Given the description of an element on the screen output the (x, y) to click on. 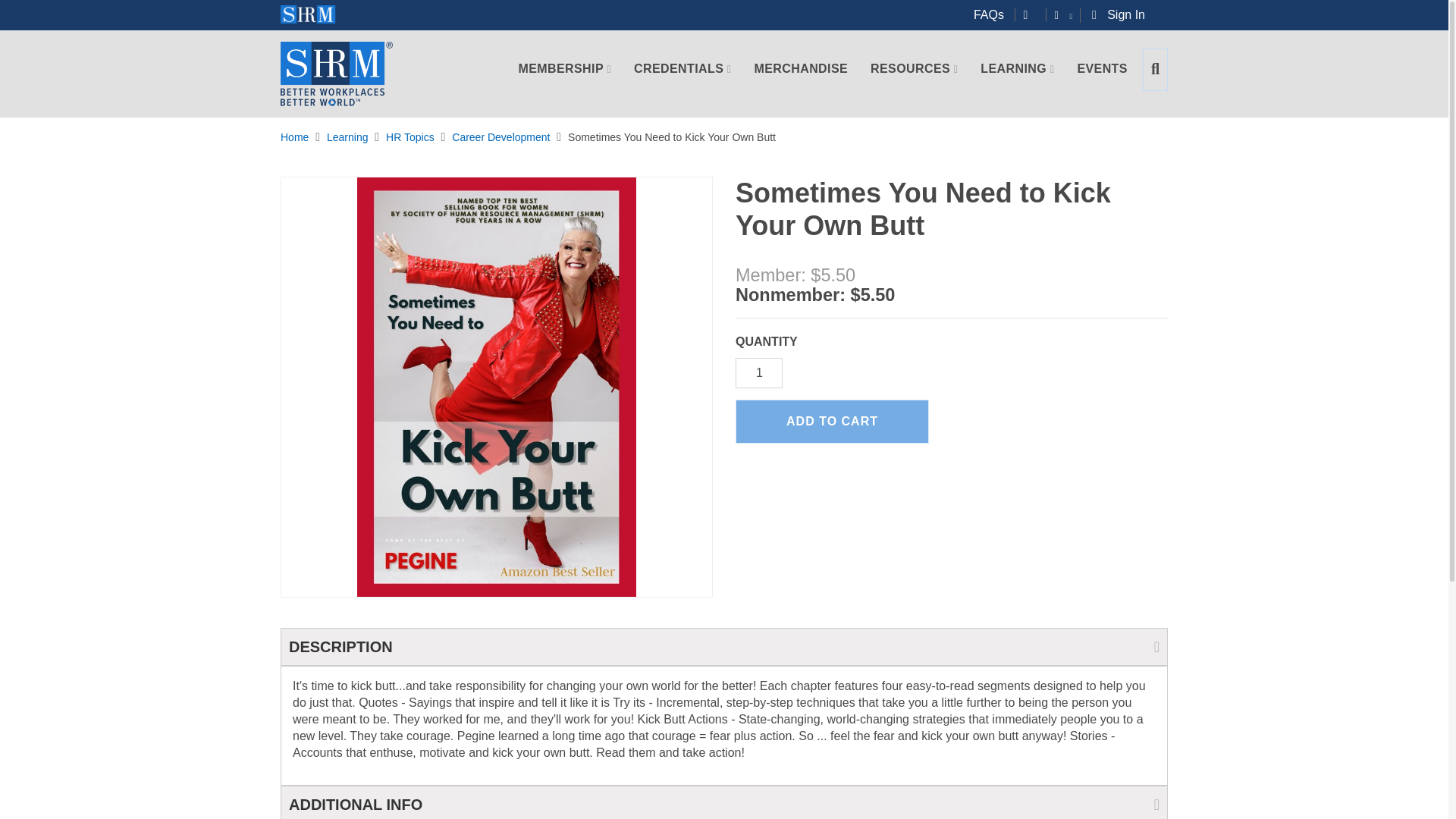
MEMBERSHIP (565, 78)
RESOURCES (914, 78)
SHRM Store (337, 73)
call SHRM (1034, 14)
CREDENTIALS (682, 78)
FAQs (994, 14)
Sign In (1122, 15)
MERCHANDISE (801, 78)
Cart (1073, 15)
1 (759, 372)
